Given the description of an element on the screen output the (x, y) to click on. 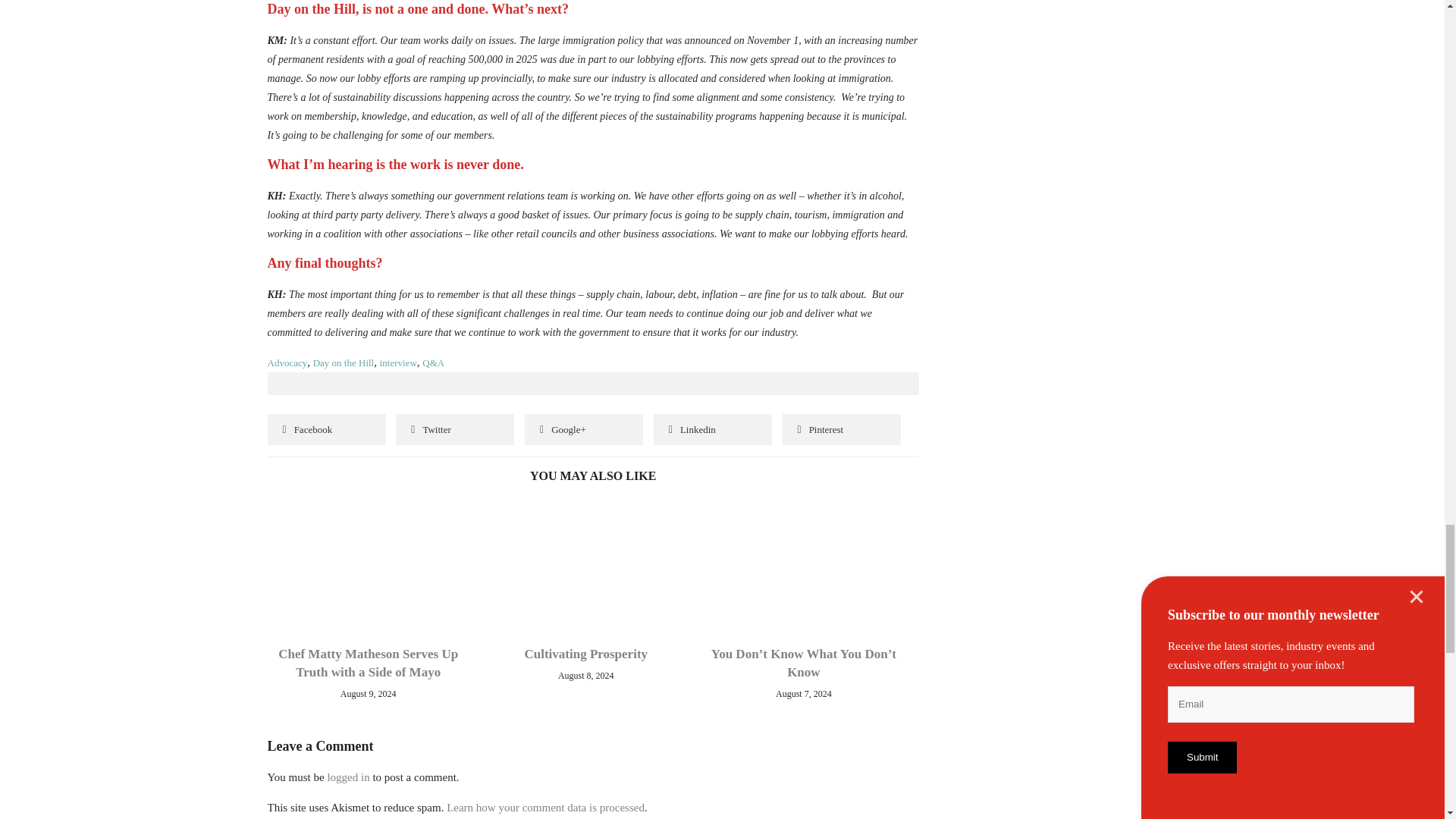
Click to share (583, 429)
Facebook (325, 429)
Pinterest (842, 429)
Day on the Hill (343, 362)
Cultivating Prosperity (579, 527)
Linkedin (712, 429)
Advocacy (286, 362)
Cultivating Prosperity (585, 653)
Twitter (454, 429)
interview (398, 362)
